Given the description of an element on the screen output the (x, y) to click on. 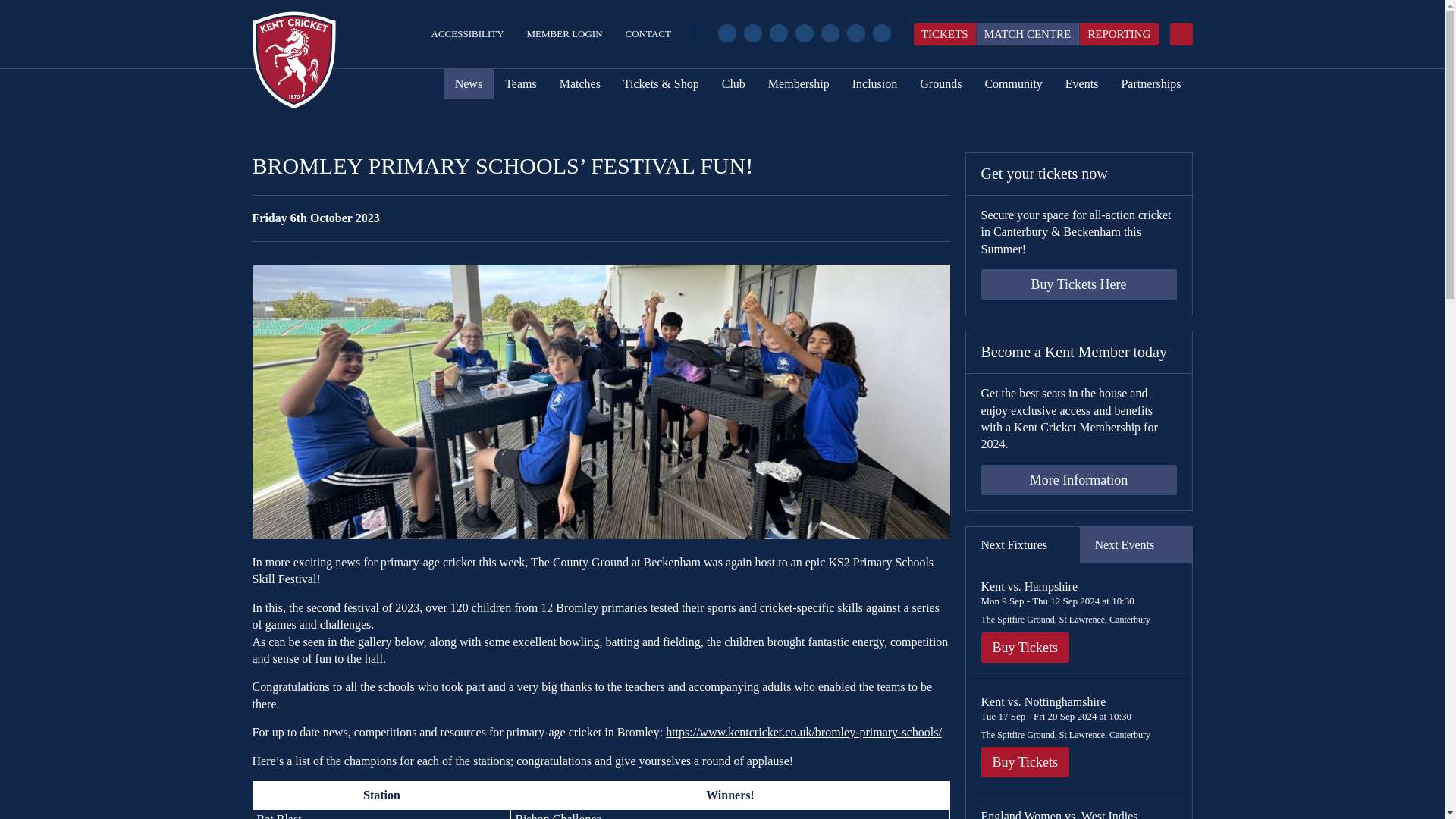
Twitter (752, 33)
News (468, 83)
REPORTING (1117, 33)
YouTube (803, 33)
CONTACT (648, 33)
TikTok (830, 33)
Search (1180, 33)
LinkedIn (855, 33)
Newsletter (881, 33)
Matches (579, 83)
